Given the description of an element on the screen output the (x, y) to click on. 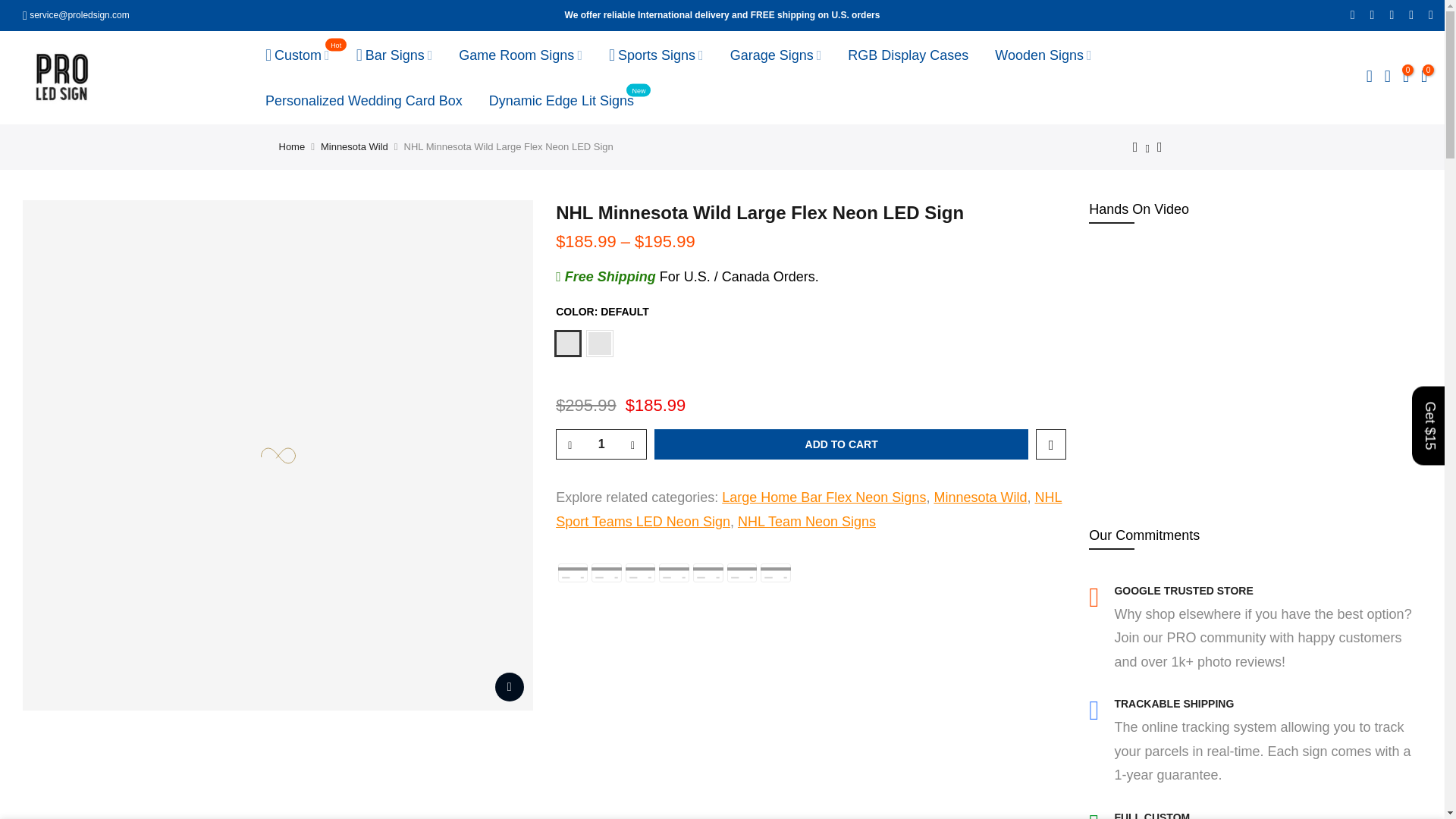
YouTube video player (1255, 360)
Personalized Wedding Card Box (363, 99)
Bar Signs (393, 53)
Sports Signs (561, 99)
Minnesota Wild (655, 53)
Game Room Signs (354, 146)
0 (520, 53)
Garage Signs (1405, 78)
RGB Display Cases (775, 53)
0 (907, 53)
Wooden Signs (1423, 78)
Home (1043, 53)
ADD TO CART (292, 146)
